Given the description of an element on the screen output the (x, y) to click on. 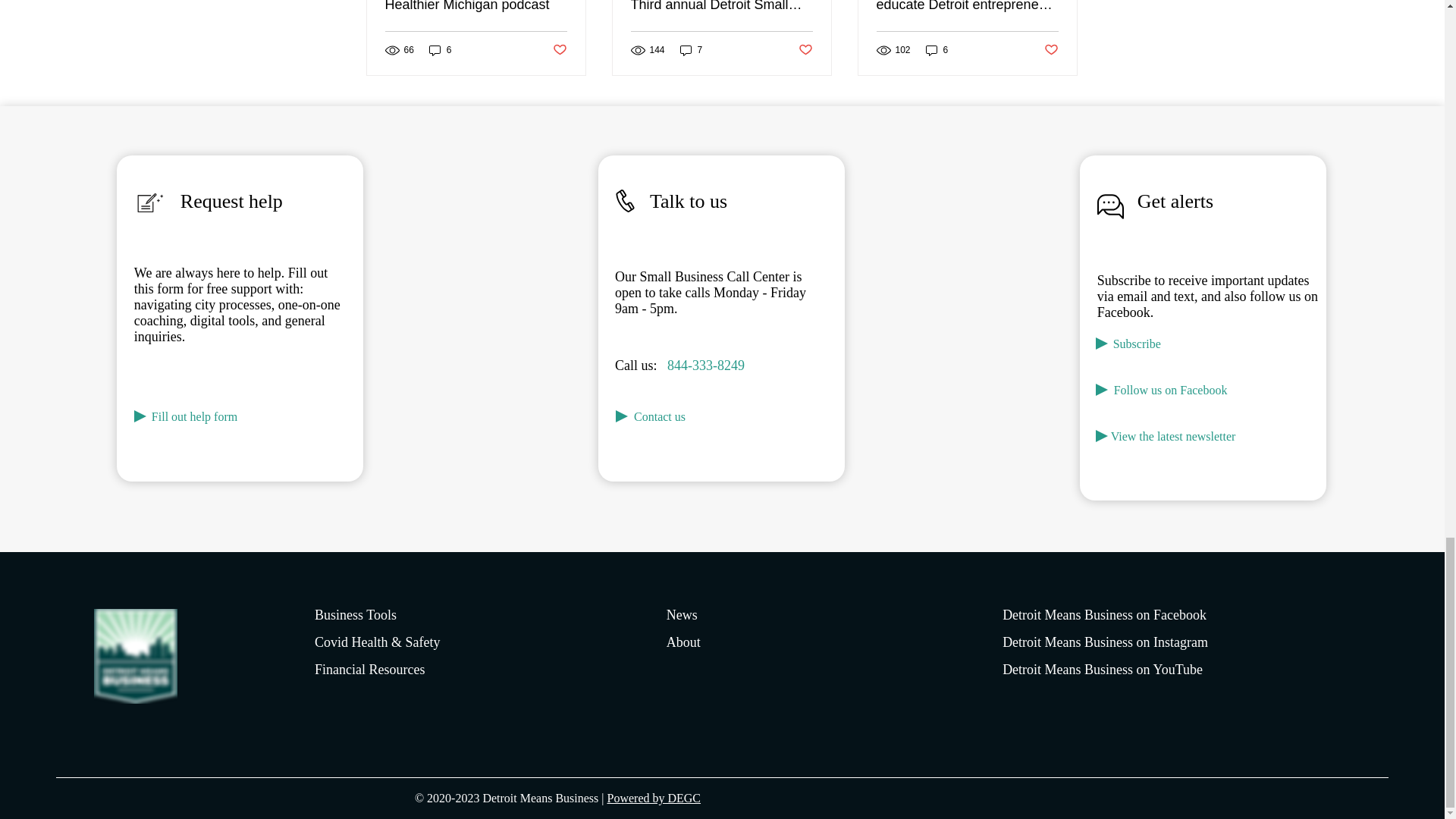
DMB President featured on Healthier Michigan podcast (476, 6)
6 (440, 50)
7 (691, 50)
Post not marked as liked (558, 50)
